Given the description of an element on the screen output the (x, y) to click on. 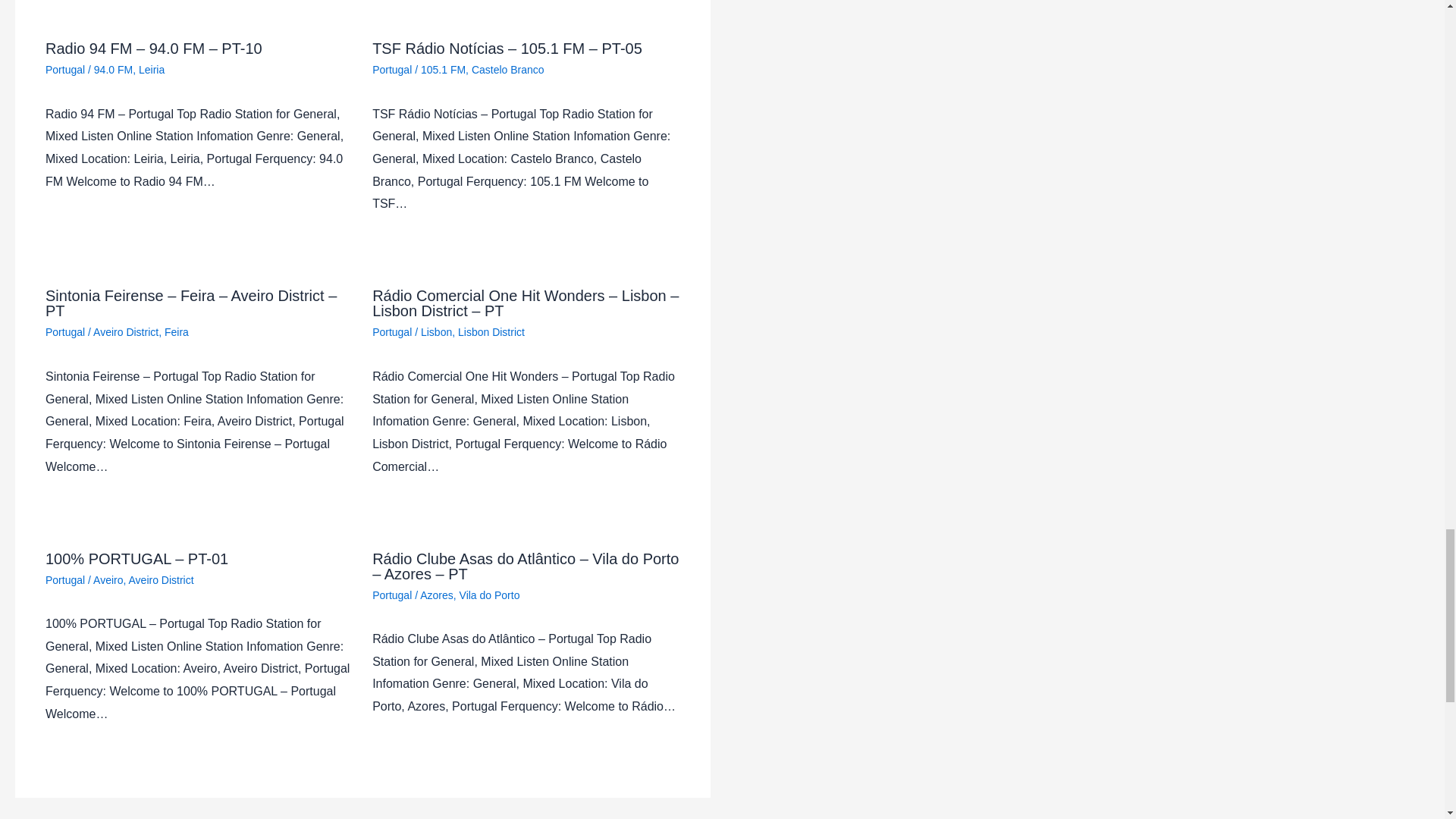
94.0 FM (113, 69)
Leiria (151, 69)
Portugal (64, 331)
Portugal (392, 69)
Feira (176, 331)
Aveiro District (125, 331)
105.1 FM (442, 69)
Portugal (64, 69)
Castelo Branco (507, 69)
